Given the description of an element on the screen output the (x, y) to click on. 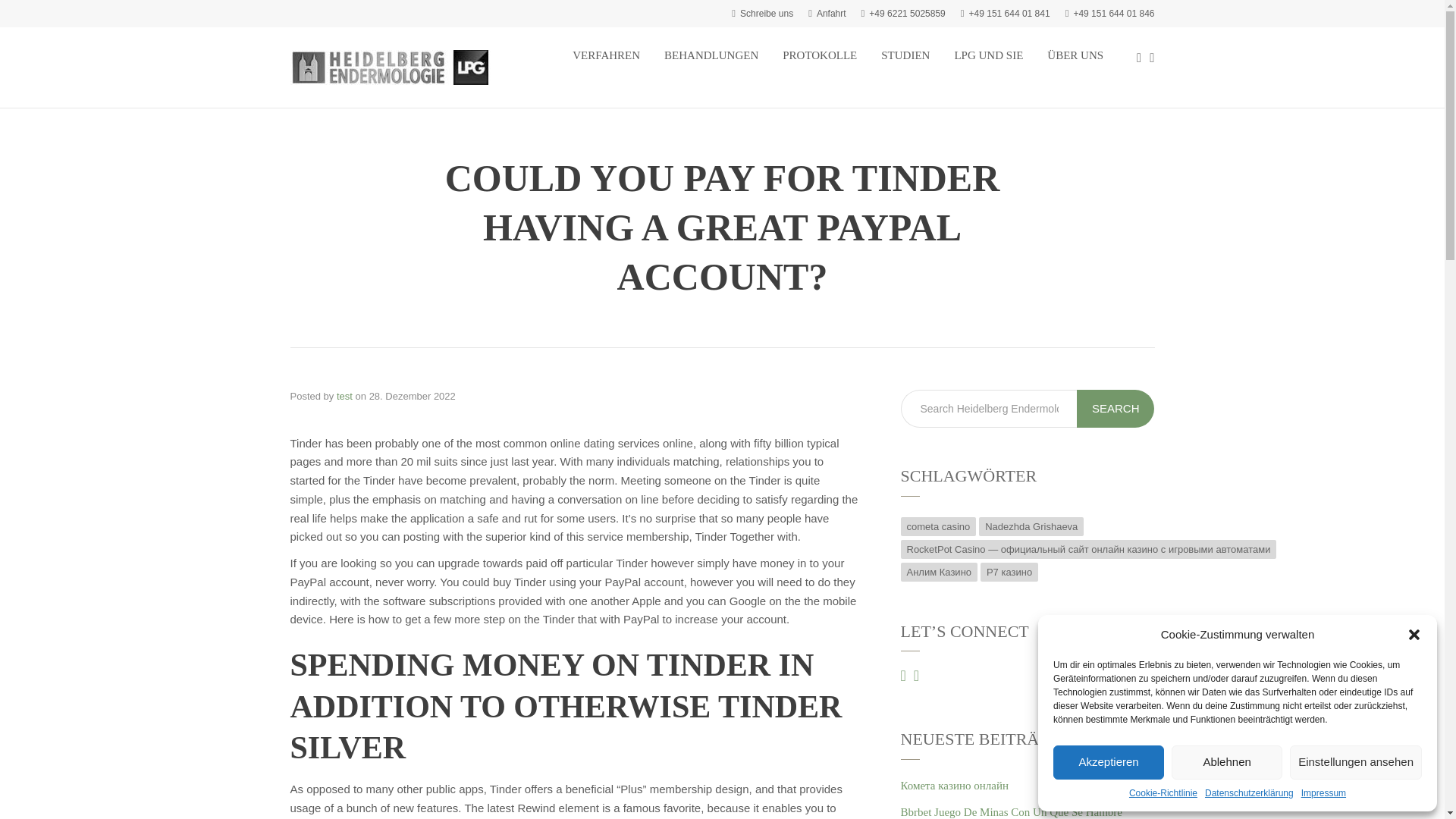
Impressum (1323, 793)
Akzeptieren (1107, 762)
Ablehnen (1227, 762)
BEHANDLUNGEN (710, 55)
Anfahrt (826, 13)
Einstellungen ansehen (1356, 762)
VERFAHREN (606, 55)
Schreibe uns (762, 13)
STUDIEN (905, 55)
Cookie-Richtlinie (1162, 793)
